Given the description of an element on the screen output the (x, y) to click on. 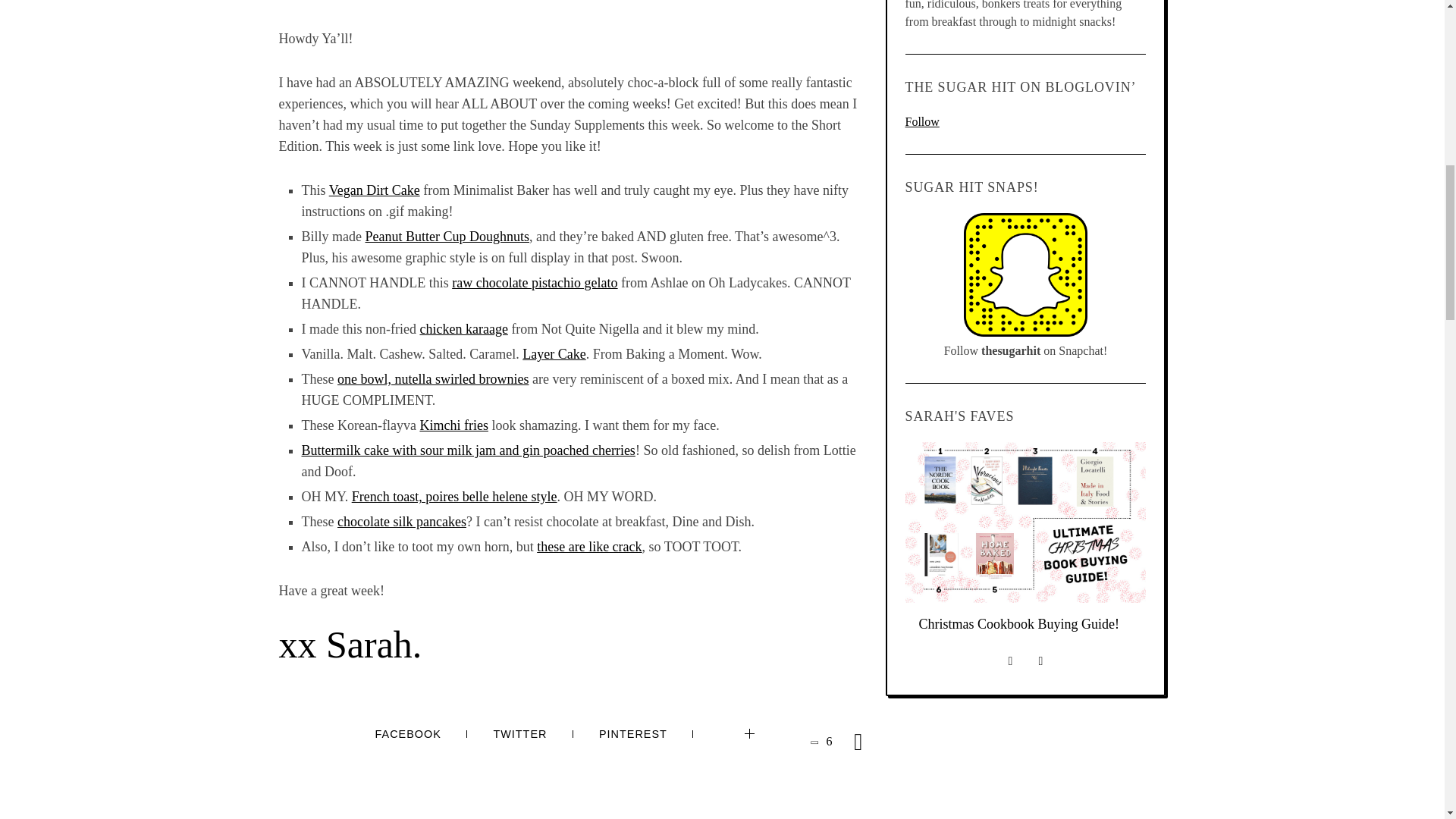
Raw Chocolate Pistachio Gelato Oh Ladycakes (534, 282)
vanilla-malt-layer-cake-with-cashews-and-salted-carame (553, 353)
One Bowl Brownies (432, 378)
Kimchi Fries Peegaw (453, 425)
one bowl, nutella swirled brownies (432, 378)
chocolate silk pancakes (401, 521)
French toast, poires belle helene style (454, 496)
these are like crack (589, 546)
chicken karaage (462, 328)
Salty Maple Almond Praline (589, 546)
buttermilk-cake-with-sour-milk-jam-and-gin-poached-cherries (467, 450)
French Toast with Chocolate and Pears, Vanilla Bean Blog (454, 496)
Chocolate Silk Pancakes Dine and Dish (401, 521)
Low Fat Chicken Karaage Not Quite Nigella (462, 328)
Kimchi fries (453, 425)
